Given the description of an element on the screen output the (x, y) to click on. 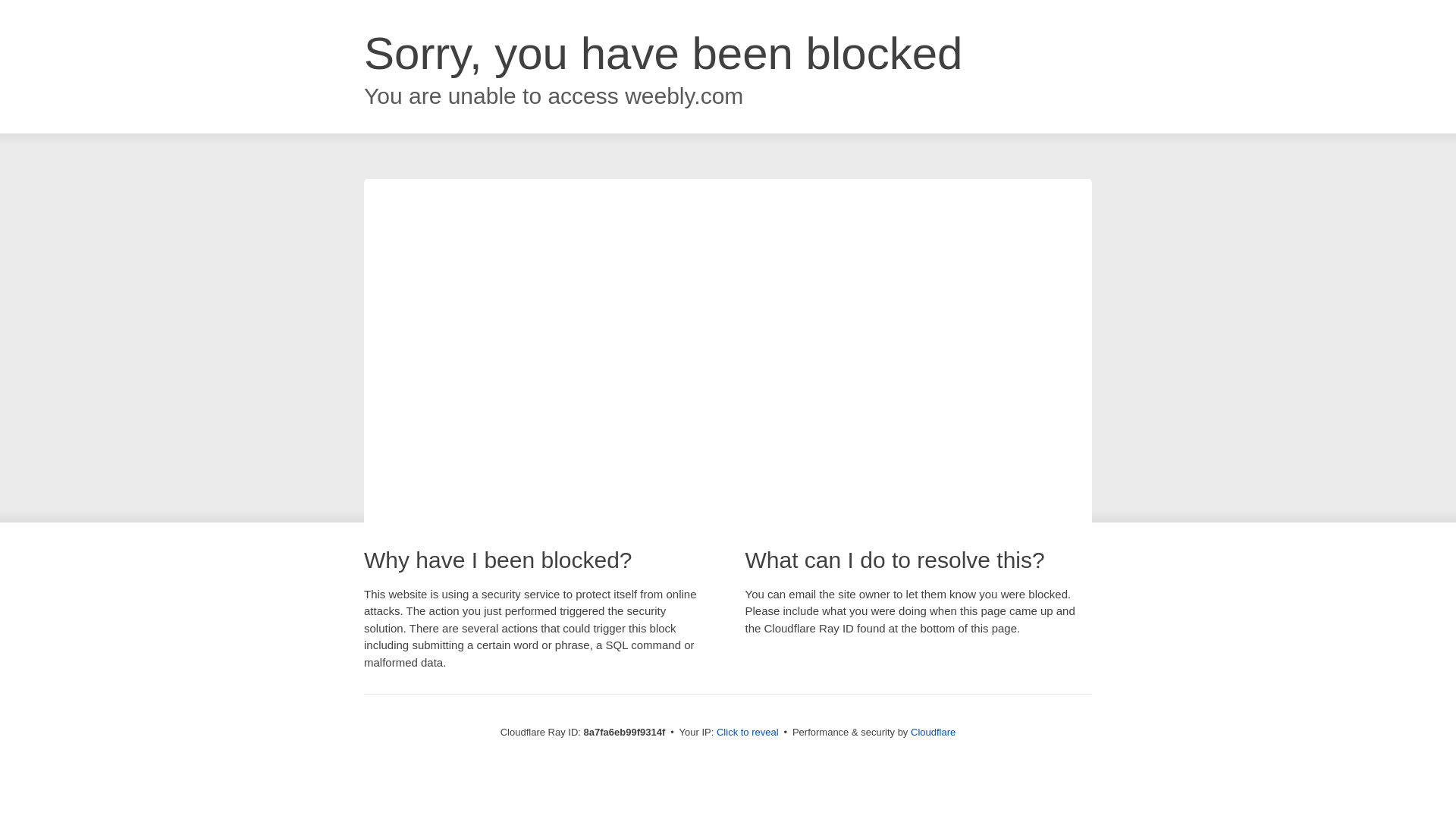
Click to reveal (747, 732)
Cloudflare (933, 731)
